Given the description of an element on the screen output the (x, y) to click on. 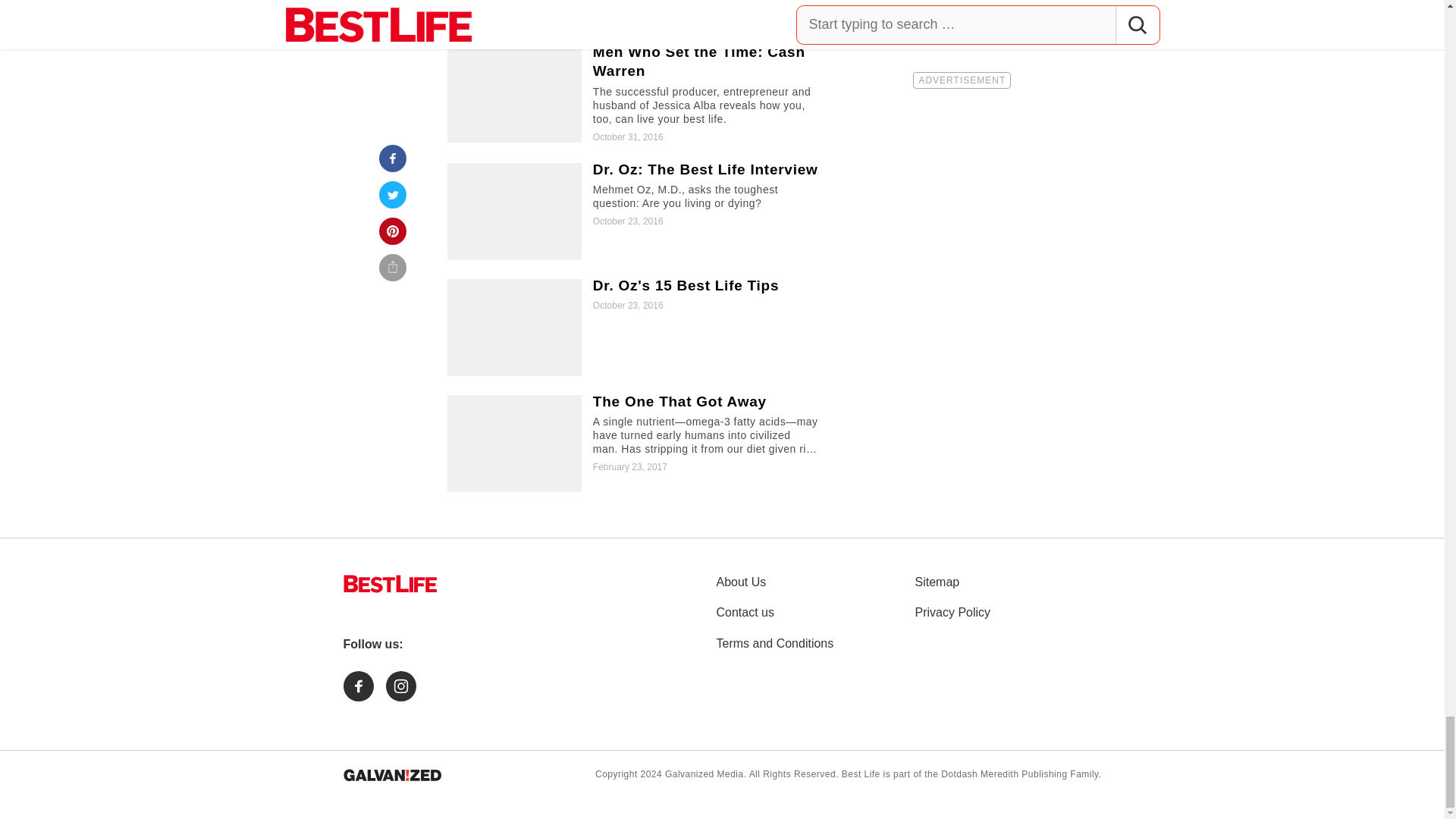
Men Who Set the Time: Cash Warren (635, 94)
Dr. Oz: The Best Life Interview (635, 211)
Driving Tips Smart Men Know (635, 13)
Dr. Oz's 15 Best Life Tips (635, 327)
